Given the description of an element on the screen output the (x, y) to click on. 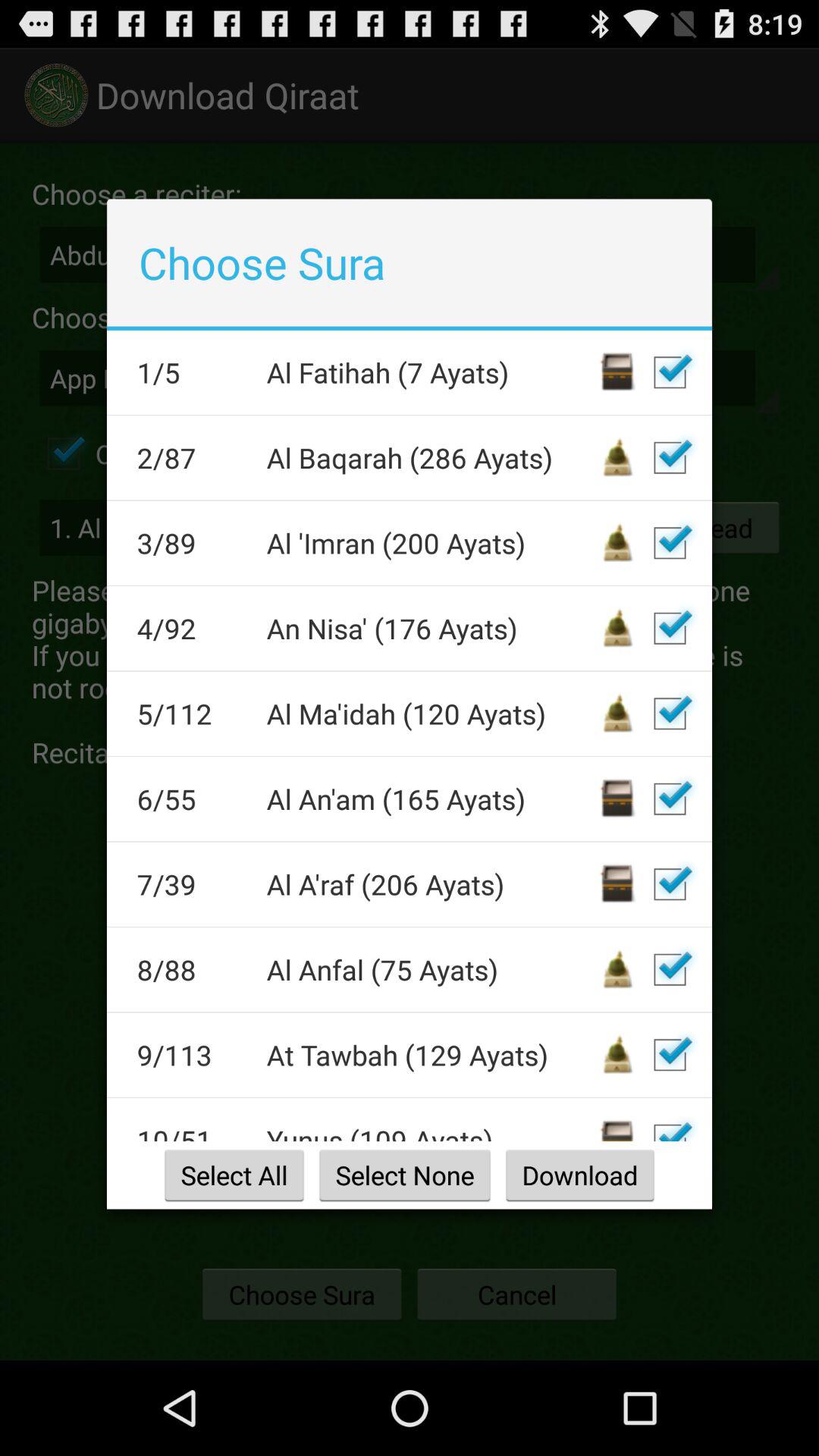
deselect file (669, 1124)
